Given the description of an element on the screen output the (x, y) to click on. 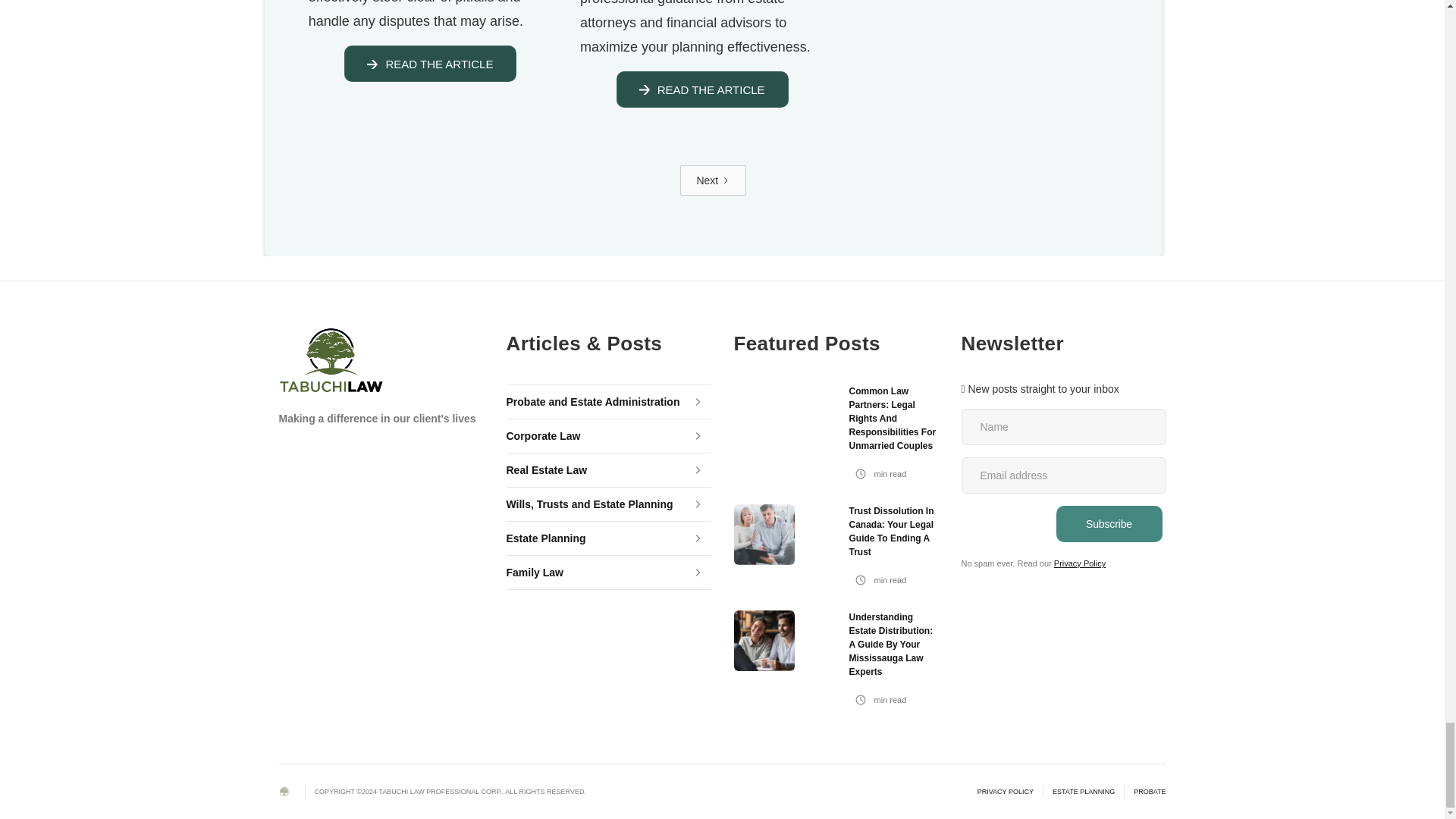
READ THE ARTICLE (696, 89)
READ THE ARTICLE (424, 63)
Subscribe (1108, 524)
Next (712, 180)
